Given the description of an element on the screen output the (x, y) to click on. 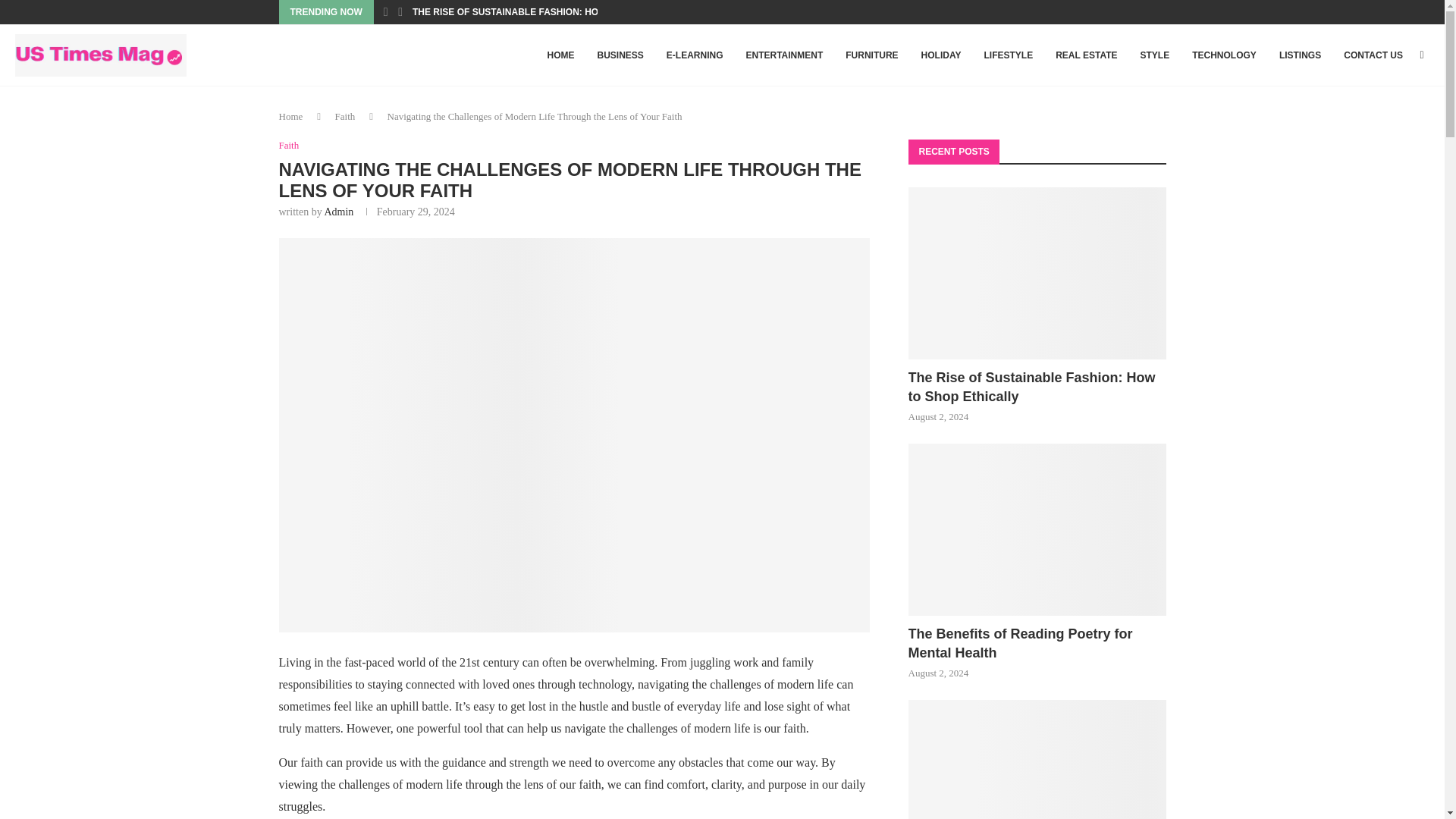
THE RISE OF SUSTAINABLE FASHION: HOW TO SHOP... (534, 12)
Home (290, 116)
Admin (338, 211)
Faith (289, 145)
REAL ESTATE (1085, 55)
E-LEARNING (694, 55)
Faith (344, 116)
TECHNOLOGY (1224, 55)
ENTERTAINMENT (784, 55)
CONTACT US (1373, 55)
The Rise of Sustainable Fashion: How to Shop Ethically (1037, 273)
